Given the description of an element on the screen output the (x, y) to click on. 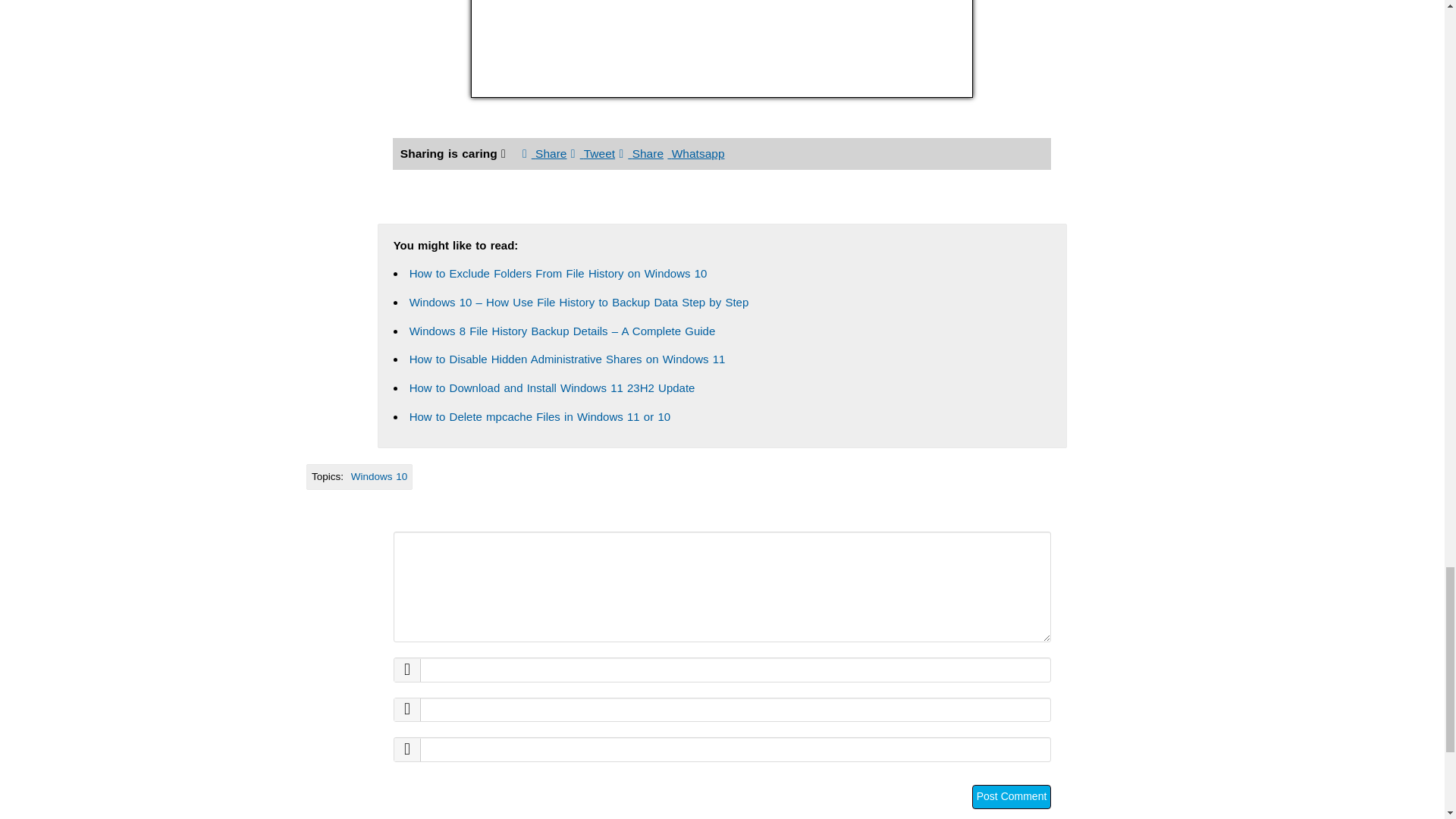
Share (640, 153)
How to Disable Hidden Administrative Shares on Windows 11 (567, 358)
Share (544, 153)
How to Exclude Folders From File History on Windows 10 (558, 273)
How to Delete mpcache Files in Windows 11 or 10 (539, 416)
Post Comment (1011, 796)
Windows 10 (378, 476)
How to Download and Install Windows 11 23H2 Update (552, 387)
Post Comment (1011, 796)
Tweet (592, 153)
Whatsapp (694, 153)
set schedule to recimg tool in windows 8 (721, 48)
